Given the description of an element on the screen output the (x, y) to click on. 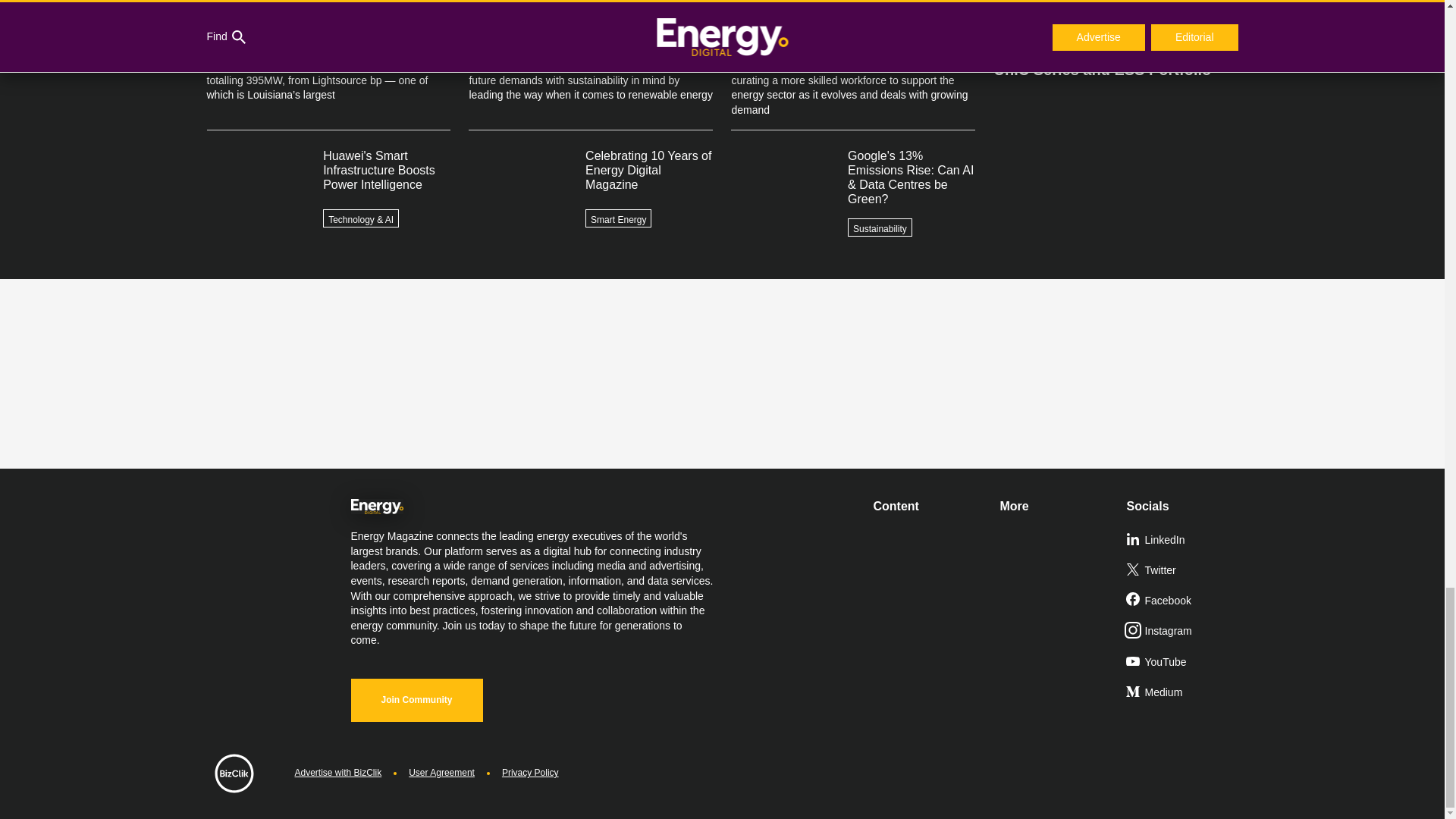
LinkedIn (1182, 540)
Glastonbury: Inside the Festival's Eco Energy Revolution (1114, 13)
ees Europe: Ampace Introduces UniC Series and ESS Portfolio (1114, 53)
Join Community (415, 699)
